Given the description of an element on the screen output the (x, y) to click on. 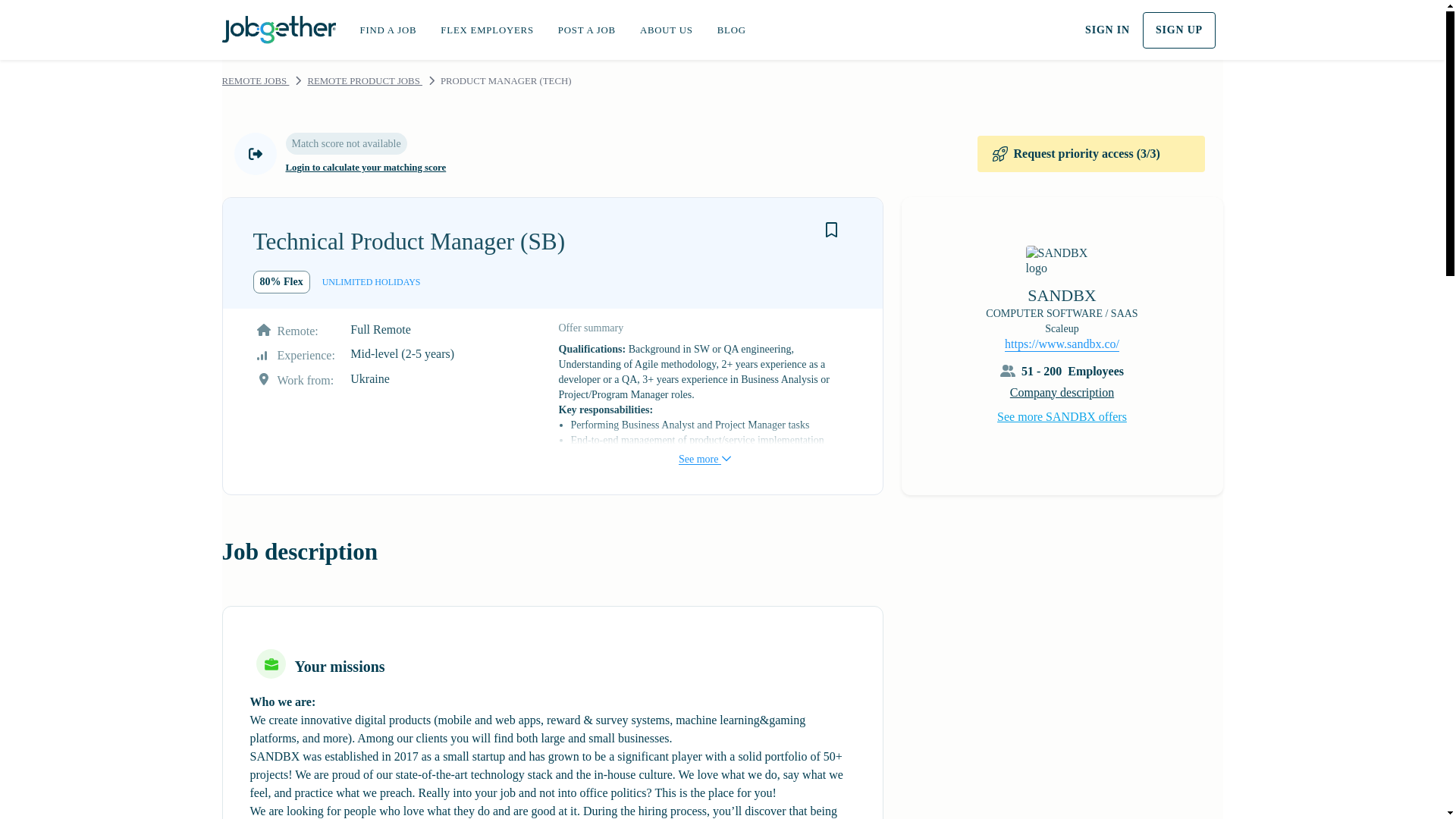
REMOTE JOBS (254, 81)
SIGN UP (1178, 30)
Login to calculate your matching score (365, 167)
POST A JOB (586, 29)
FIND A JOB (387, 29)
SIGN IN (1106, 30)
BLOG (731, 29)
See more (704, 443)
Return to home page (277, 27)
See more SANDBX offers (1061, 415)
